Given the description of an element on the screen output the (x, y) to click on. 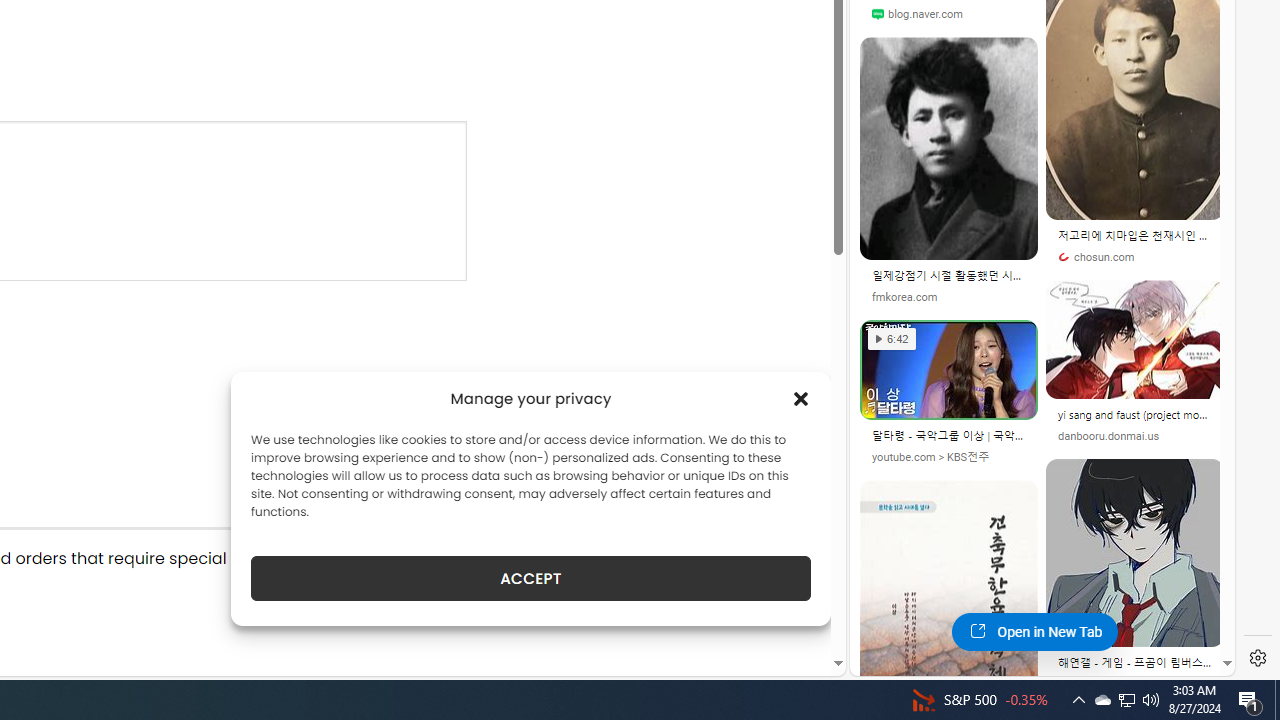
blog.naver.com (916, 13)
fmkorea.com (948, 296)
danbooru.donmai.us (1135, 435)
chosun.com (1096, 257)
danbooru.donmai.us (1108, 435)
